Given the description of an element on the screen output the (x, y) to click on. 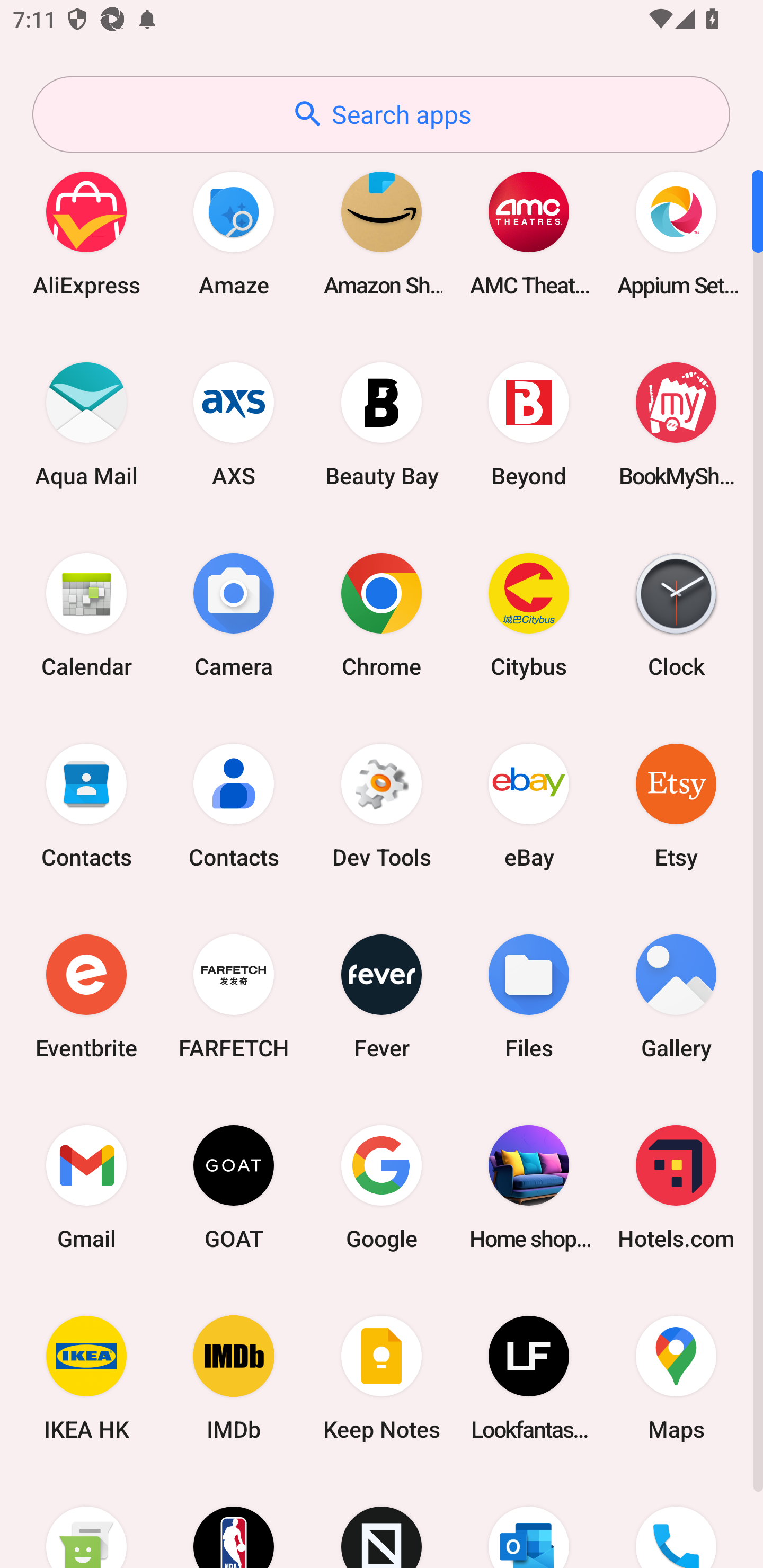
  Search apps (381, 114)
AliExpress (86, 233)
Amaze (233, 233)
Amazon Shopping (381, 233)
AMC Theatres (528, 233)
Appium Settings (676, 233)
Aqua Mail (86, 424)
AXS (233, 424)
Beauty Bay (381, 424)
Beyond (528, 424)
BookMyShow (676, 424)
Calendar (86, 614)
Camera (233, 614)
Chrome (381, 614)
Citybus (528, 614)
Clock (676, 614)
Contacts (86, 805)
Contacts (233, 805)
Dev Tools (381, 805)
eBay (528, 805)
Etsy (676, 805)
Eventbrite (86, 996)
FARFETCH (233, 996)
Fever (381, 996)
Files (528, 996)
Gallery (676, 996)
Gmail (86, 1186)
GOAT (233, 1186)
Google (381, 1186)
Home shopping (528, 1186)
Hotels.com (676, 1186)
IKEA HK (86, 1377)
IMDb (233, 1377)
Keep Notes (381, 1377)
Lookfantastic (528, 1377)
Maps (676, 1377)
